Given the description of an element on the screen output the (x, y) to click on. 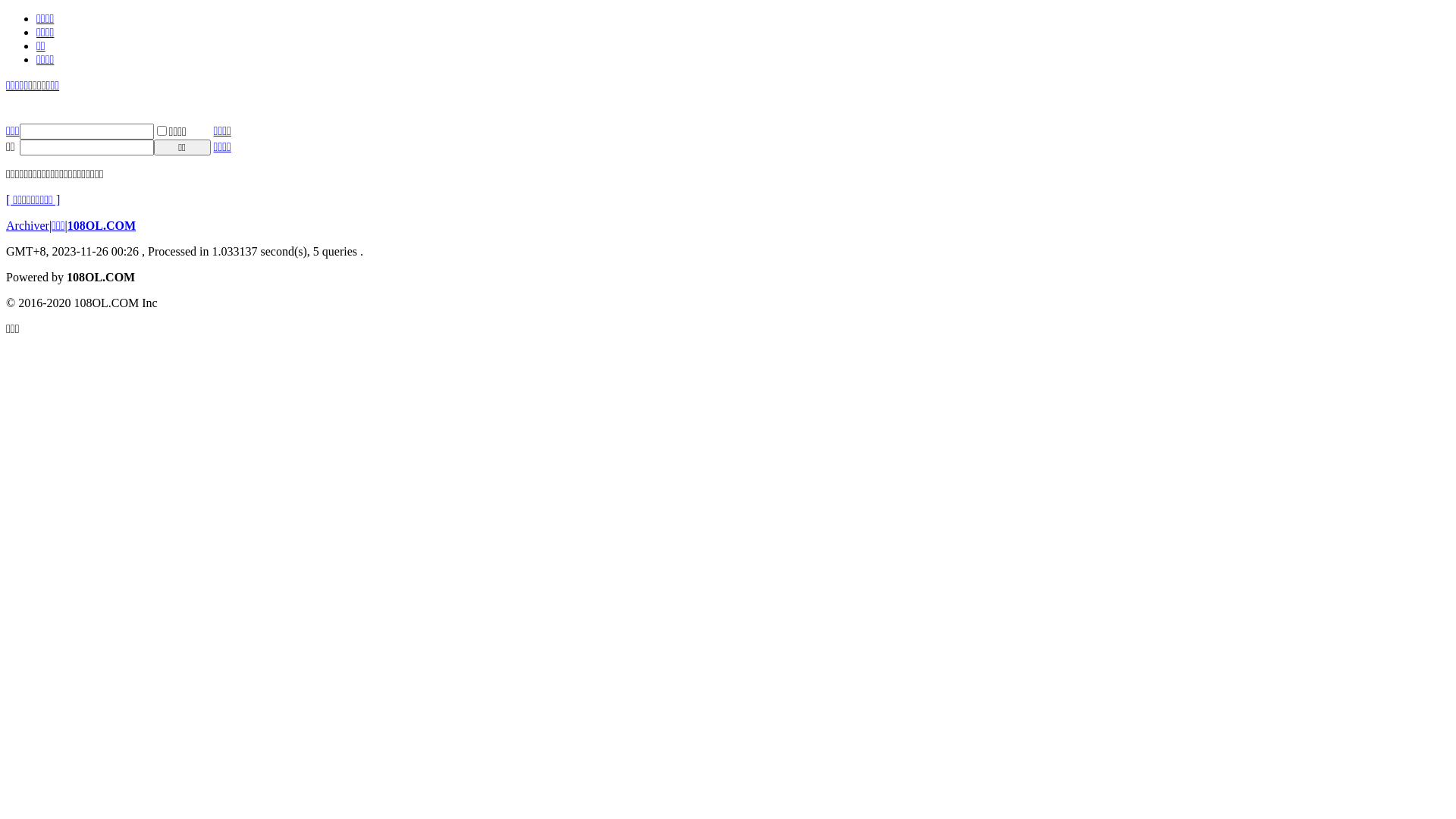
108OL.COM Element type: text (101, 225)
Archiver Element type: text (27, 225)
